Given the description of an element on the screen output the (x, y) to click on. 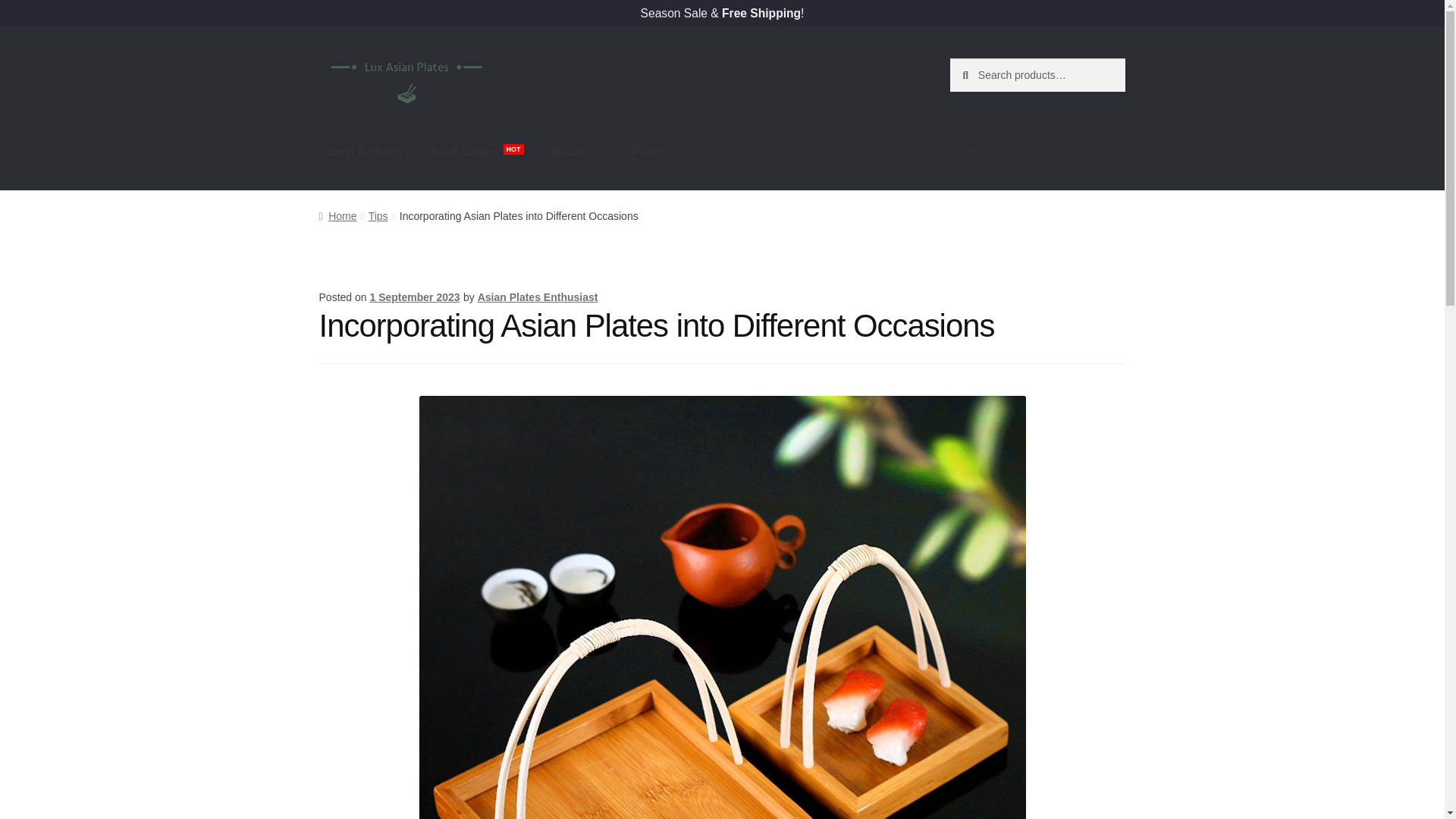
Bowls (576, 151)
View your shopping cart (1037, 151)
Latest Arrivals (360, 151)
Plates (656, 151)
Best Sellers HOT (477, 151)
